Given the description of an element on the screen output the (x, y) to click on. 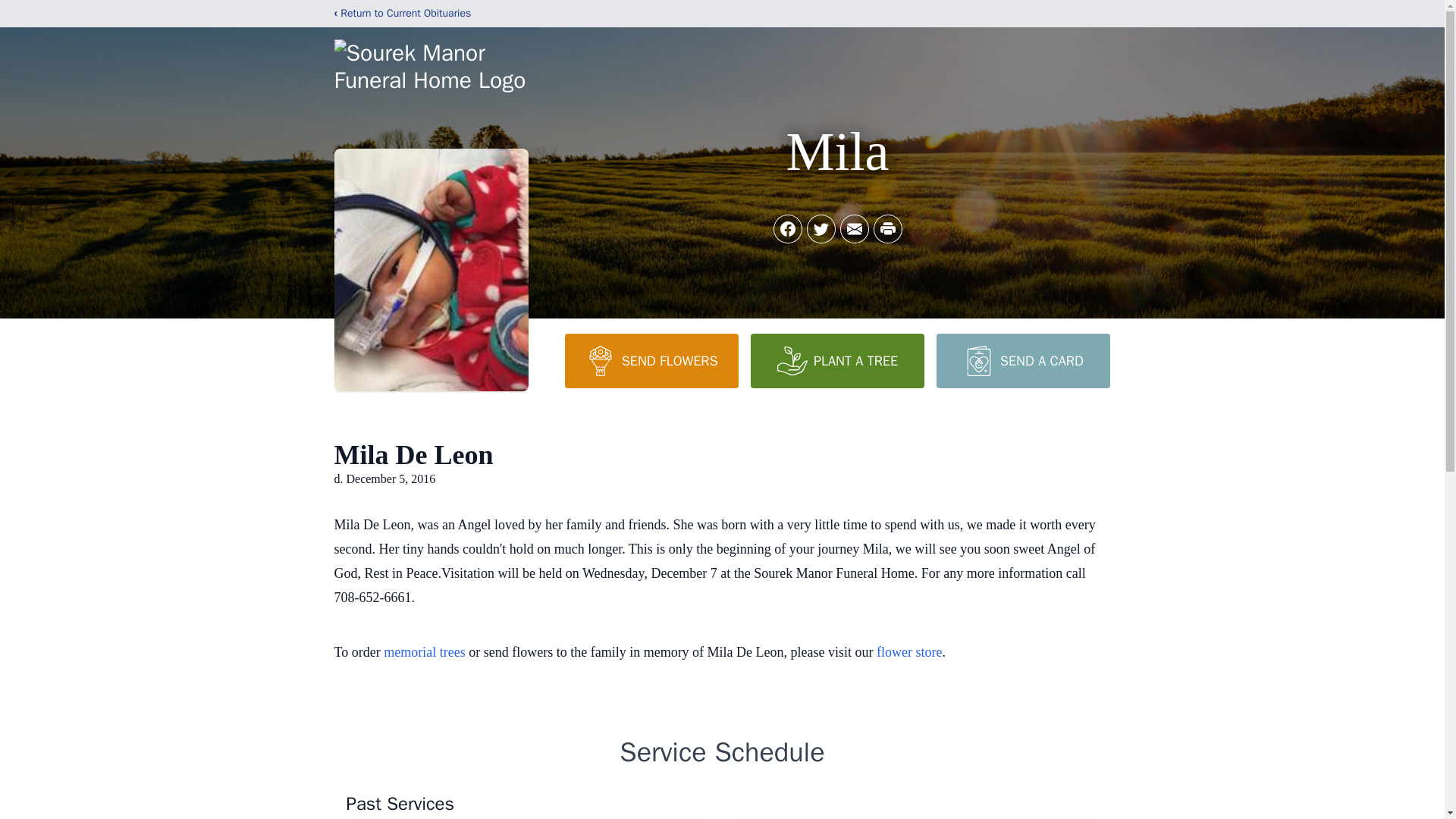
SEND A CARD (1022, 360)
memorial trees (424, 652)
PLANT A TREE (837, 360)
flower store (909, 652)
SEND FLOWERS (651, 360)
